Given the description of an element on the screen output the (x, y) to click on. 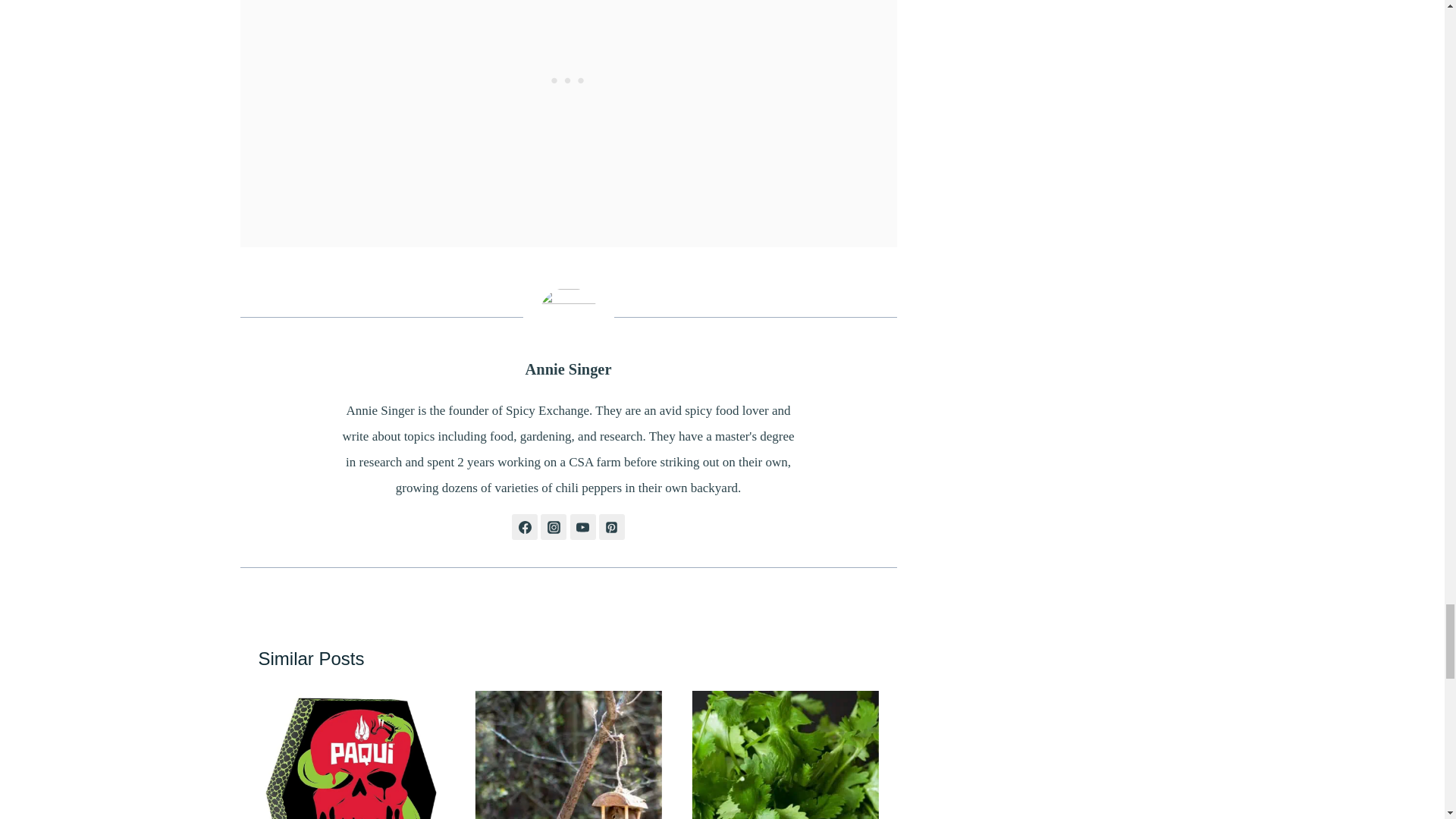
Follow Annie Singer on Youtube (582, 526)
Follow Annie Singer on Pinterest (611, 526)
Follow Annie Singer on Facebook (524, 526)
Follow Annie Singer on Instagram (553, 526)
